Given the description of an element on the screen output the (x, y) to click on. 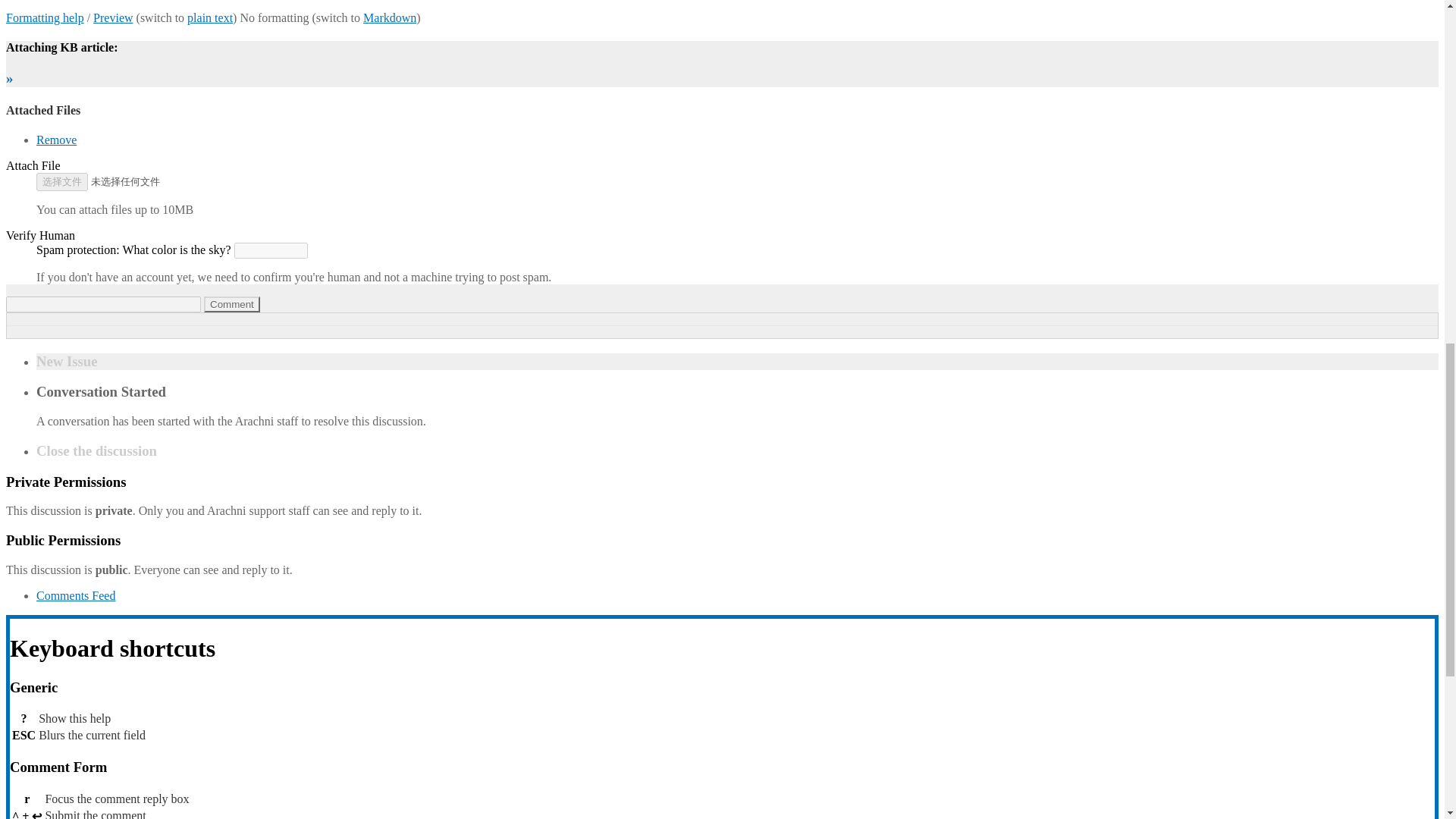
This discussion is private (27, 481)
Comment (231, 304)
plain text (209, 17)
Formatting help (44, 17)
Comments Feed (75, 594)
Preview (112, 17)
Remove (56, 139)
Markdown (389, 17)
This discussion is public (25, 539)
